Given the description of an element on the screen output the (x, y) to click on. 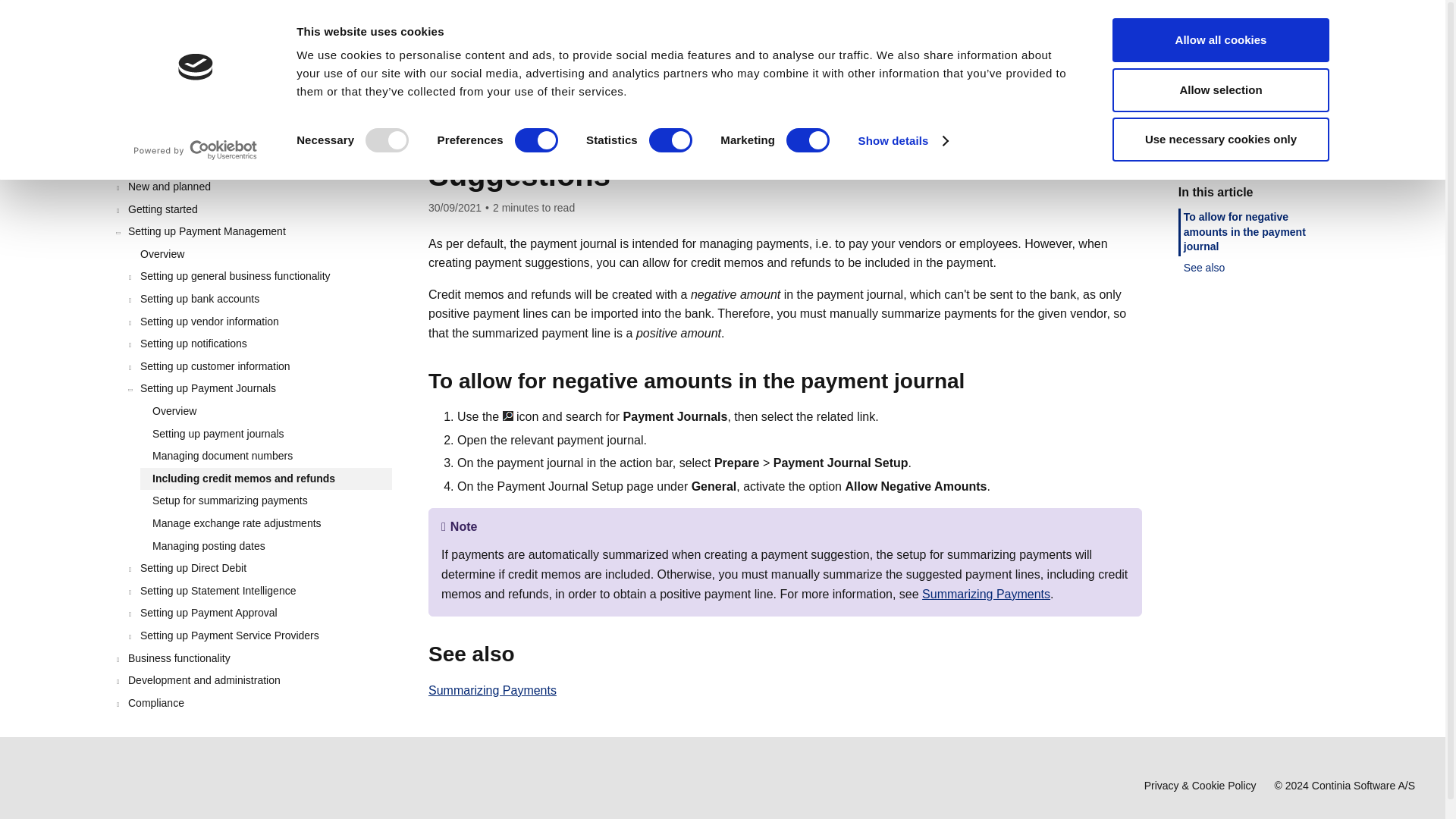
Allow all cookies (1220, 40)
Allow selection (1220, 89)
Show details (903, 140)
Use necessary cookies only (1220, 139)
